Given the description of an element on the screen output the (x, y) to click on. 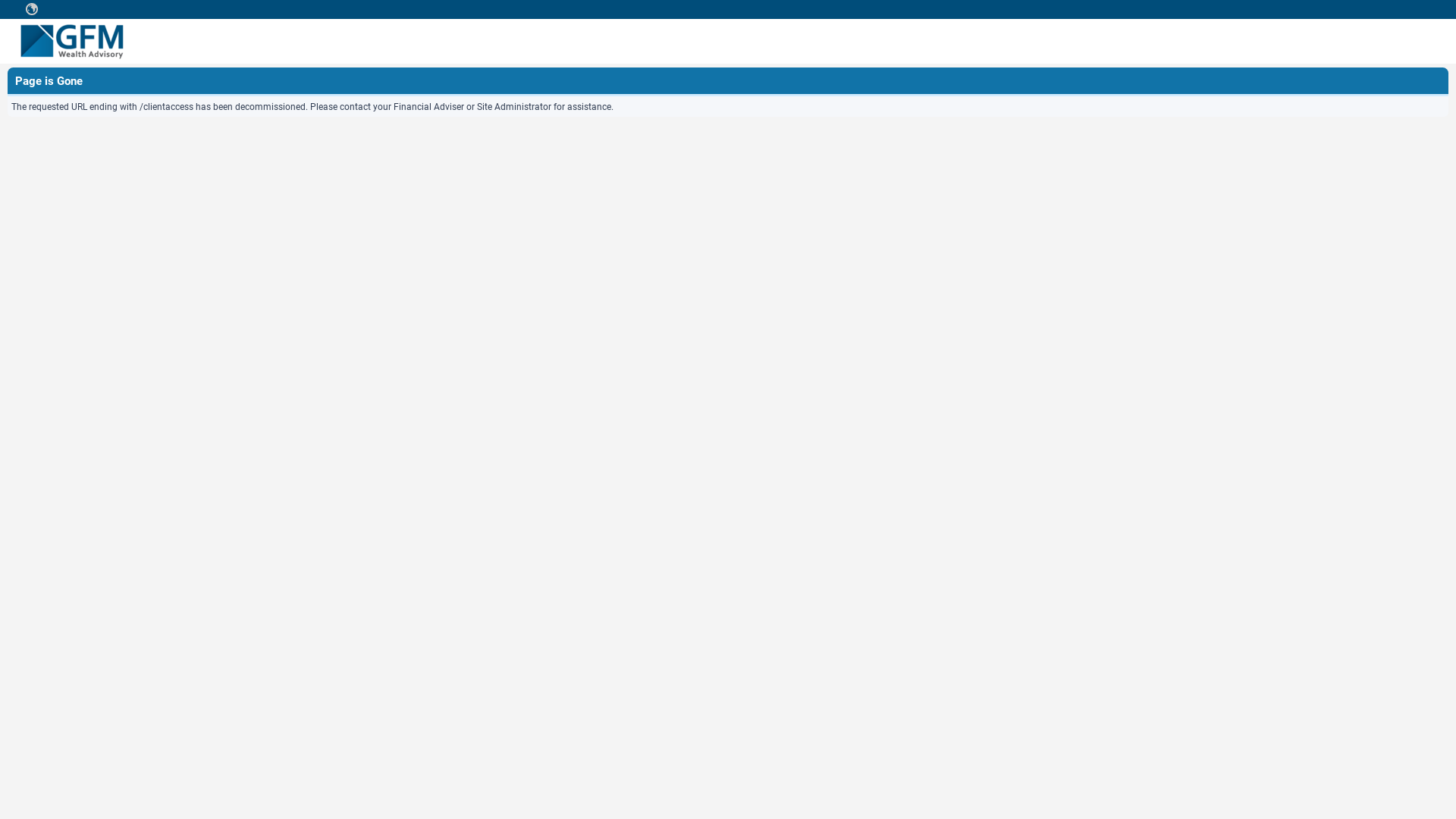
  Element type: text (31, 9)
